Given the description of an element on the screen output the (x, y) to click on. 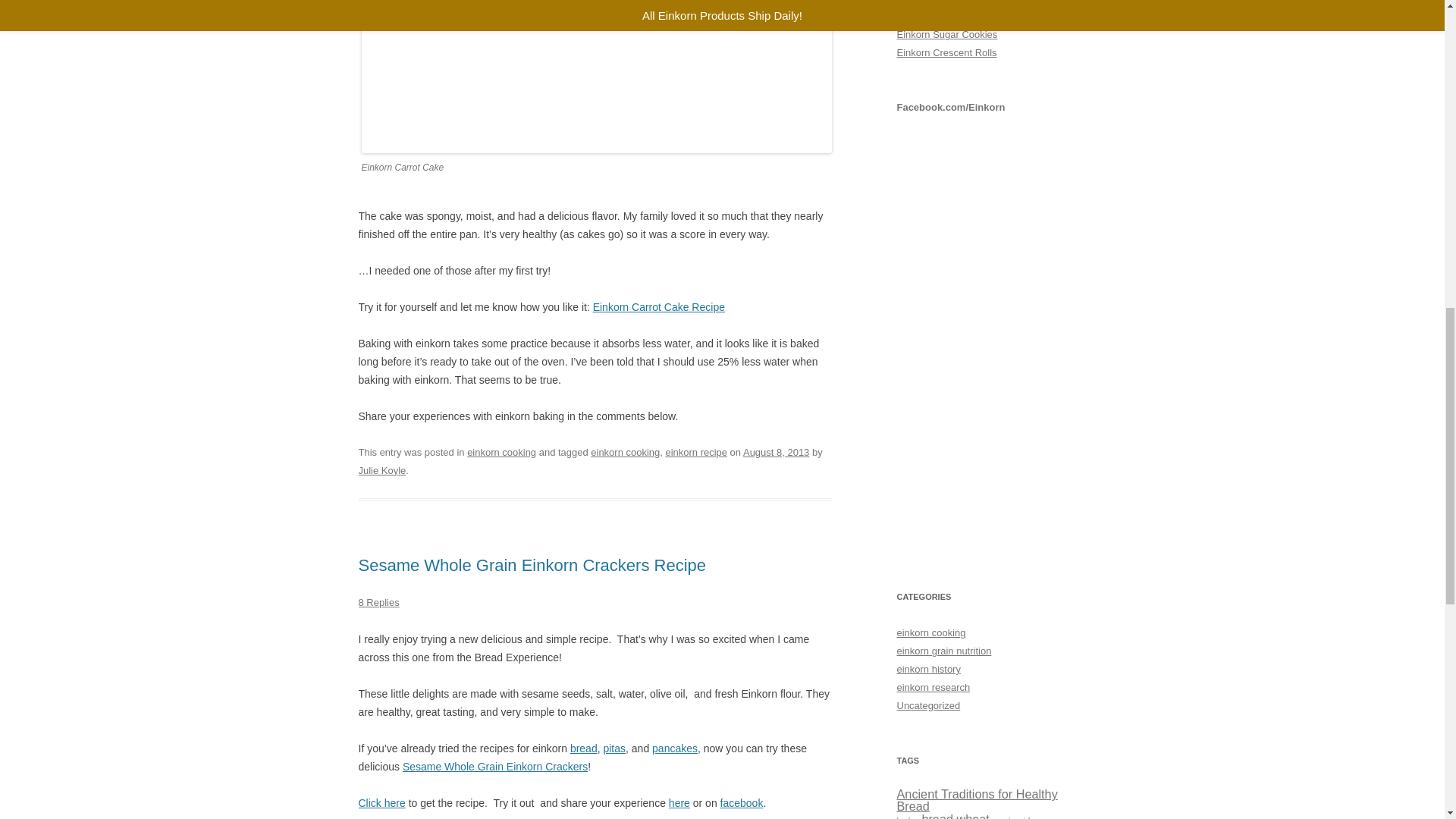
bread (583, 748)
8 Replies (378, 602)
facebook (741, 802)
Einkorn Crackers Recipe (381, 802)
pitas (614, 748)
pancakes (674, 748)
2:32 pm (775, 451)
Einkorn Bread (583, 748)
Einkorn Pancakes (674, 748)
Click here (381, 802)
